Given the description of an element on the screen output the (x, y) to click on. 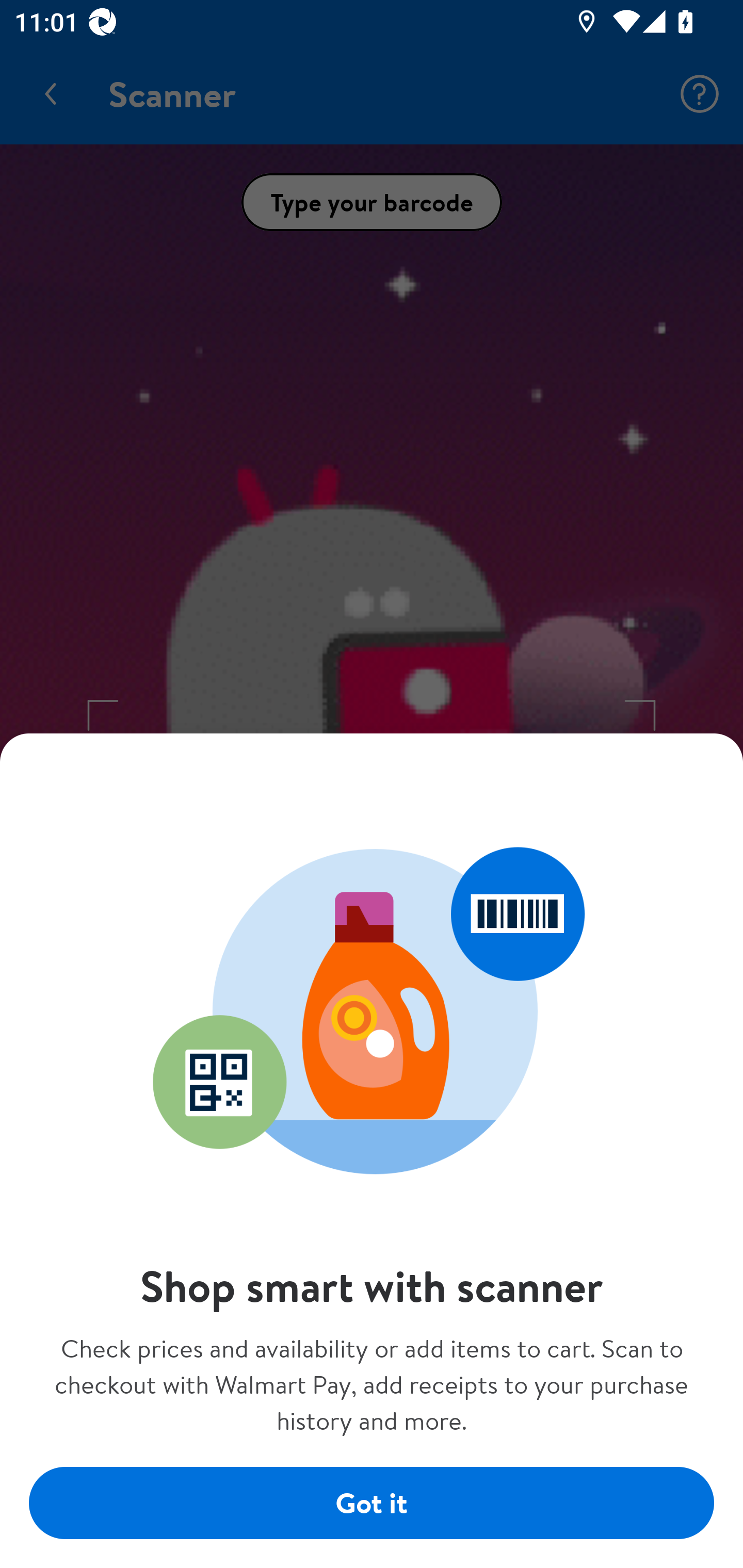
Got it (371, 1503)
